Given the description of an element on the screen output the (x, y) to click on. 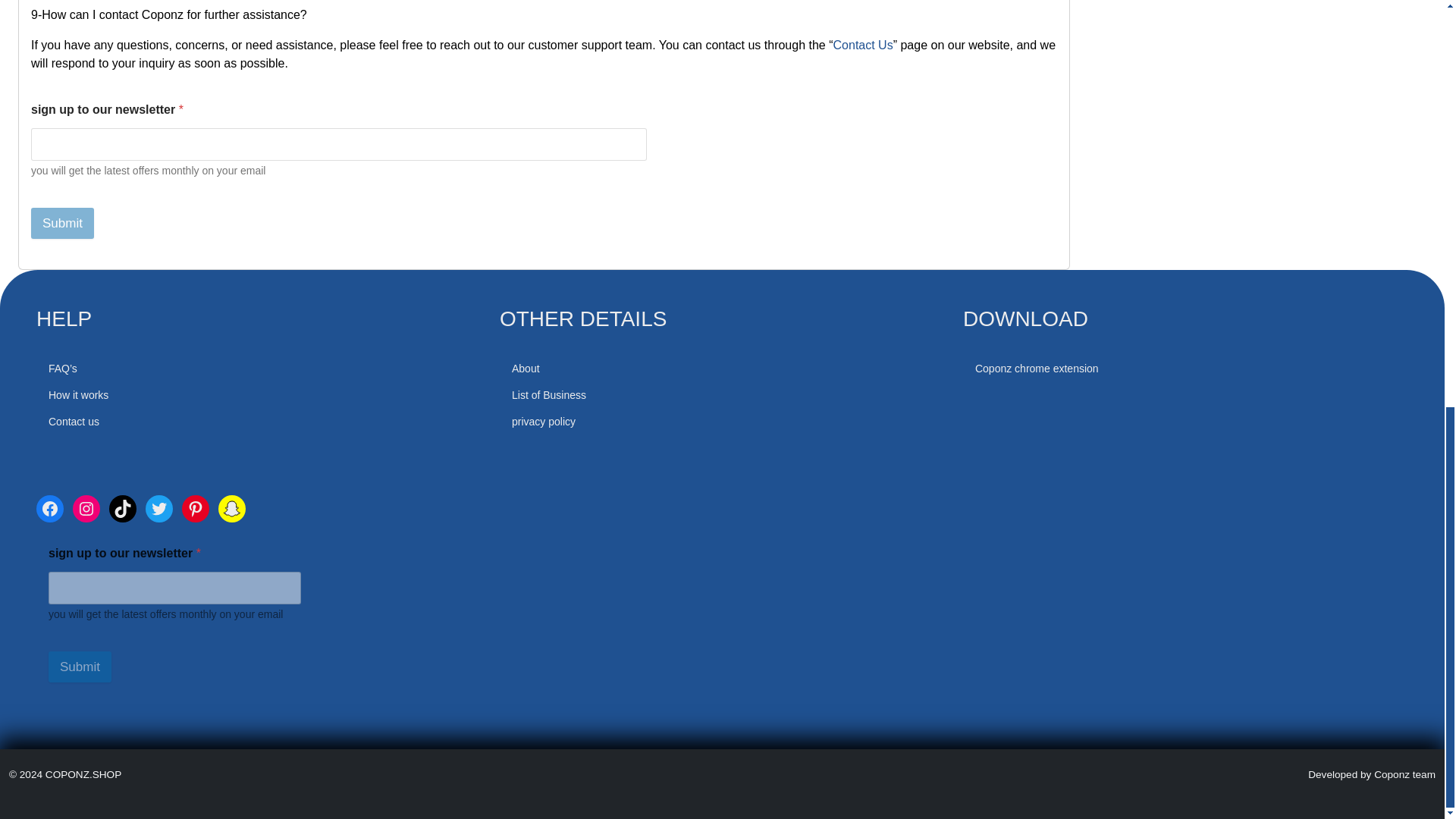
Contact Us (862, 44)
Contact us (73, 421)
Submit (62, 223)
Facebook (50, 508)
How it works (77, 395)
Instagram (86, 508)
